Given the description of an element on the screen output the (x, y) to click on. 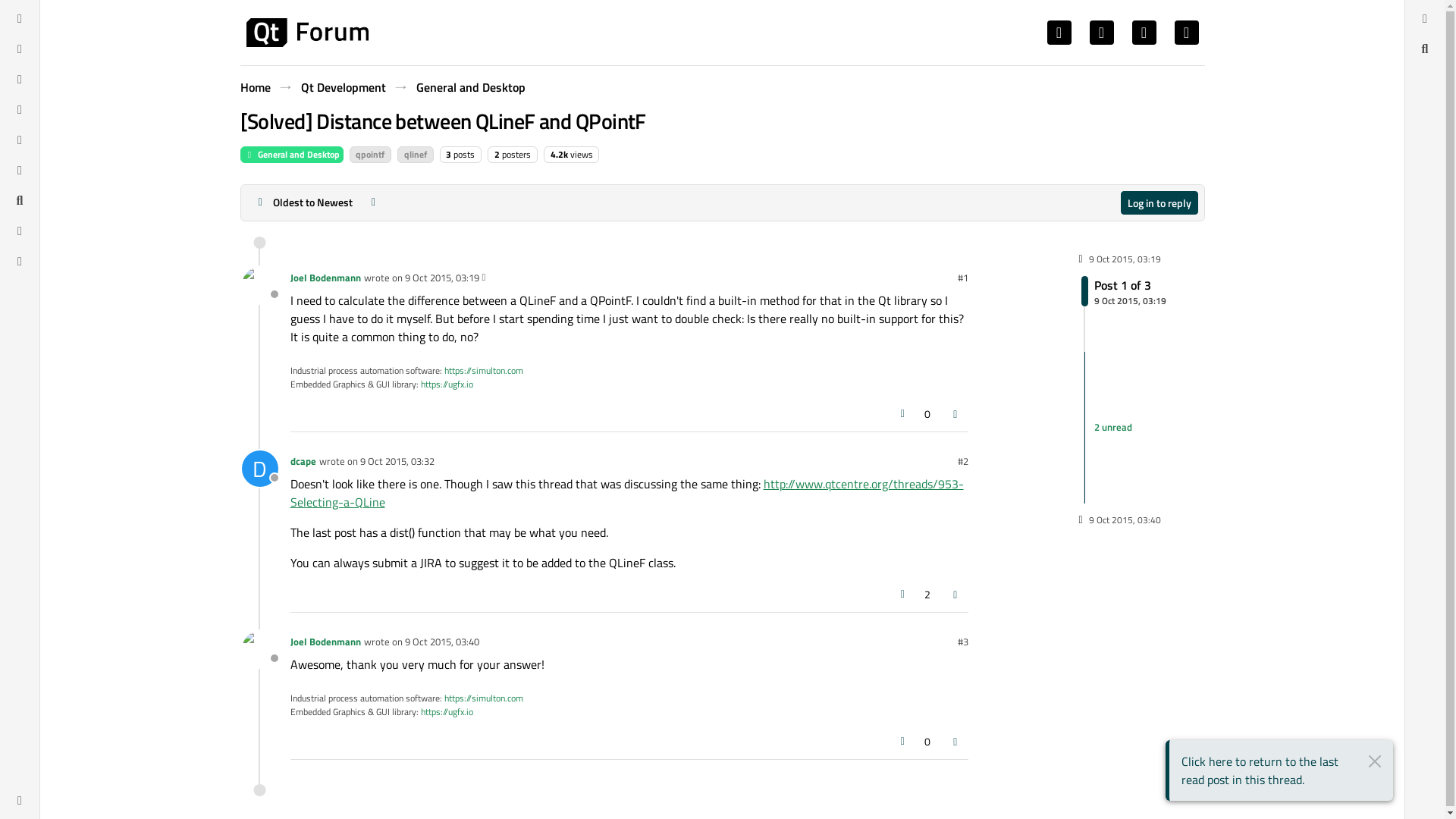
qpointf (370, 154)
9 Oct 2015, 03:19 (441, 277)
Log in to reply (1159, 202)
Upvote post (1126, 389)
3 (902, 414)
2 (448, 154)
General and Desktop (497, 154)
qlinef (291, 154)
Oldest to Newest (415, 154)
General and Desktop (303, 201)
Joel Bodenmann (1123, 291)
Qt Development (469, 86)
Brand Logo (324, 277)
